Given the description of an element on the screen output the (x, y) to click on. 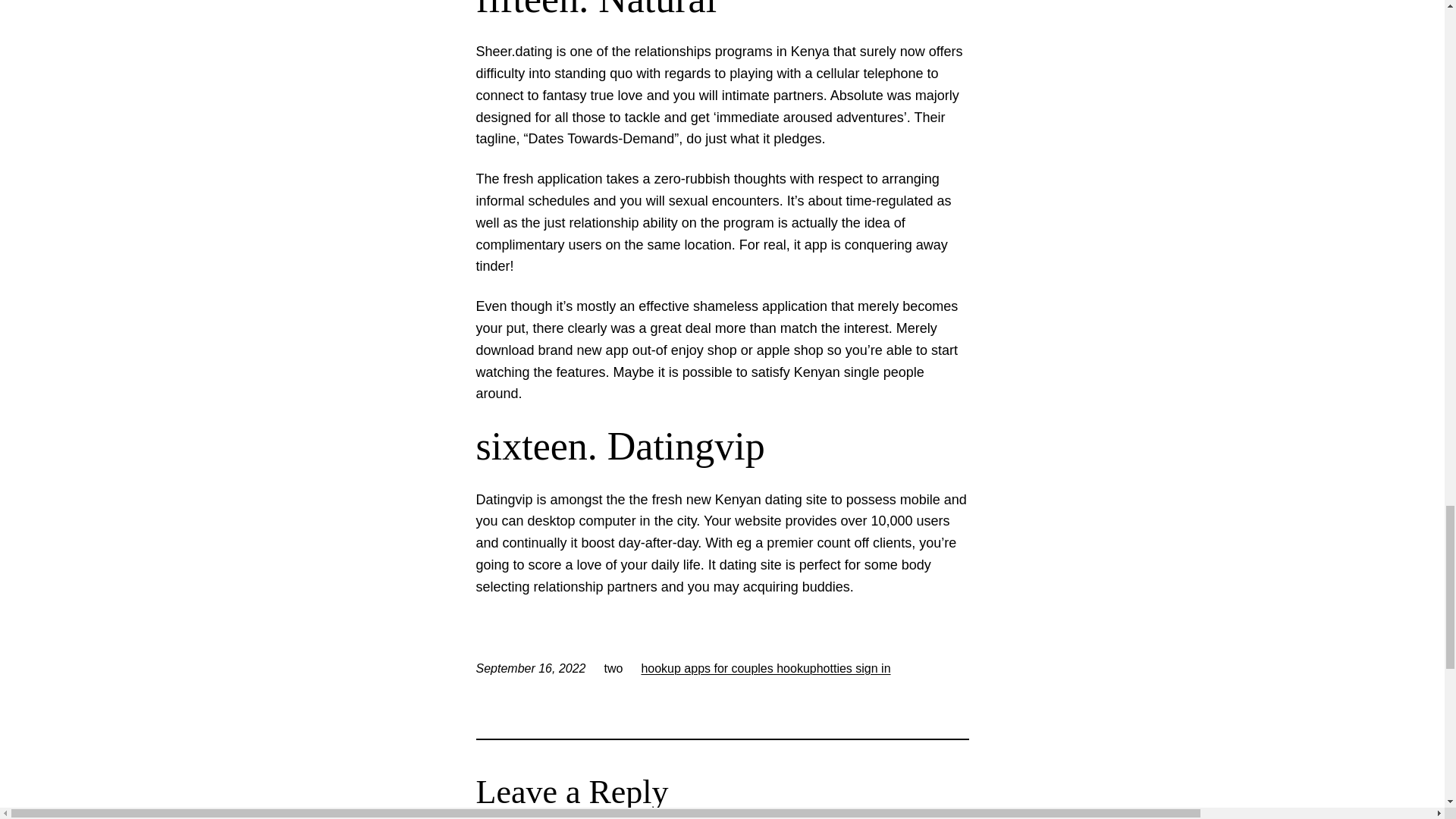
hookup apps for couples hookuphotties sign in (764, 667)
